Given the description of an element on the screen output the (x, y) to click on. 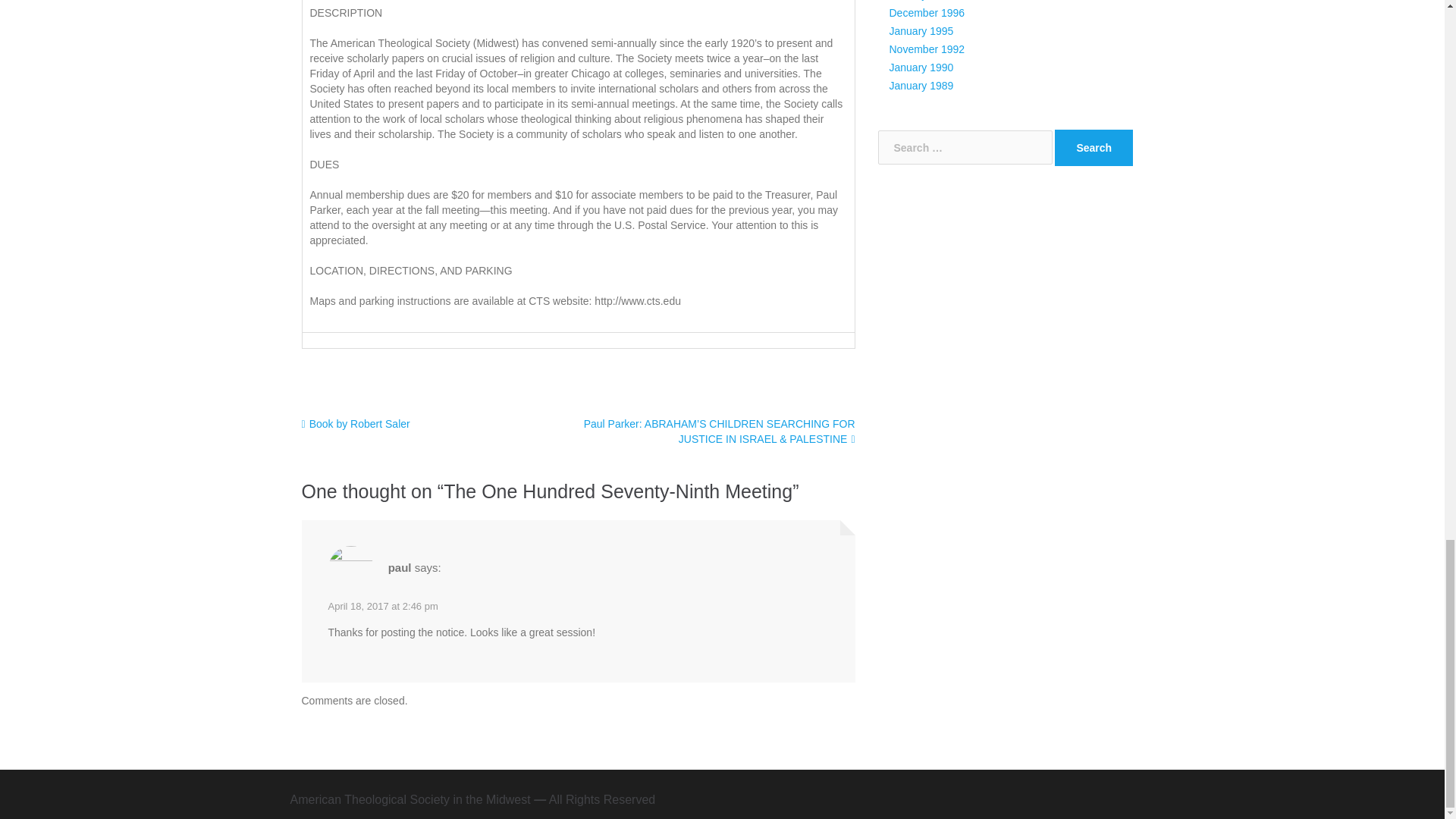
Book by Robert Saler (355, 423)
April 18, 2017 at 2:46 pm (382, 605)
Search (1093, 147)
Search (1093, 147)
